Given the description of an element on the screen output the (x, y) to click on. 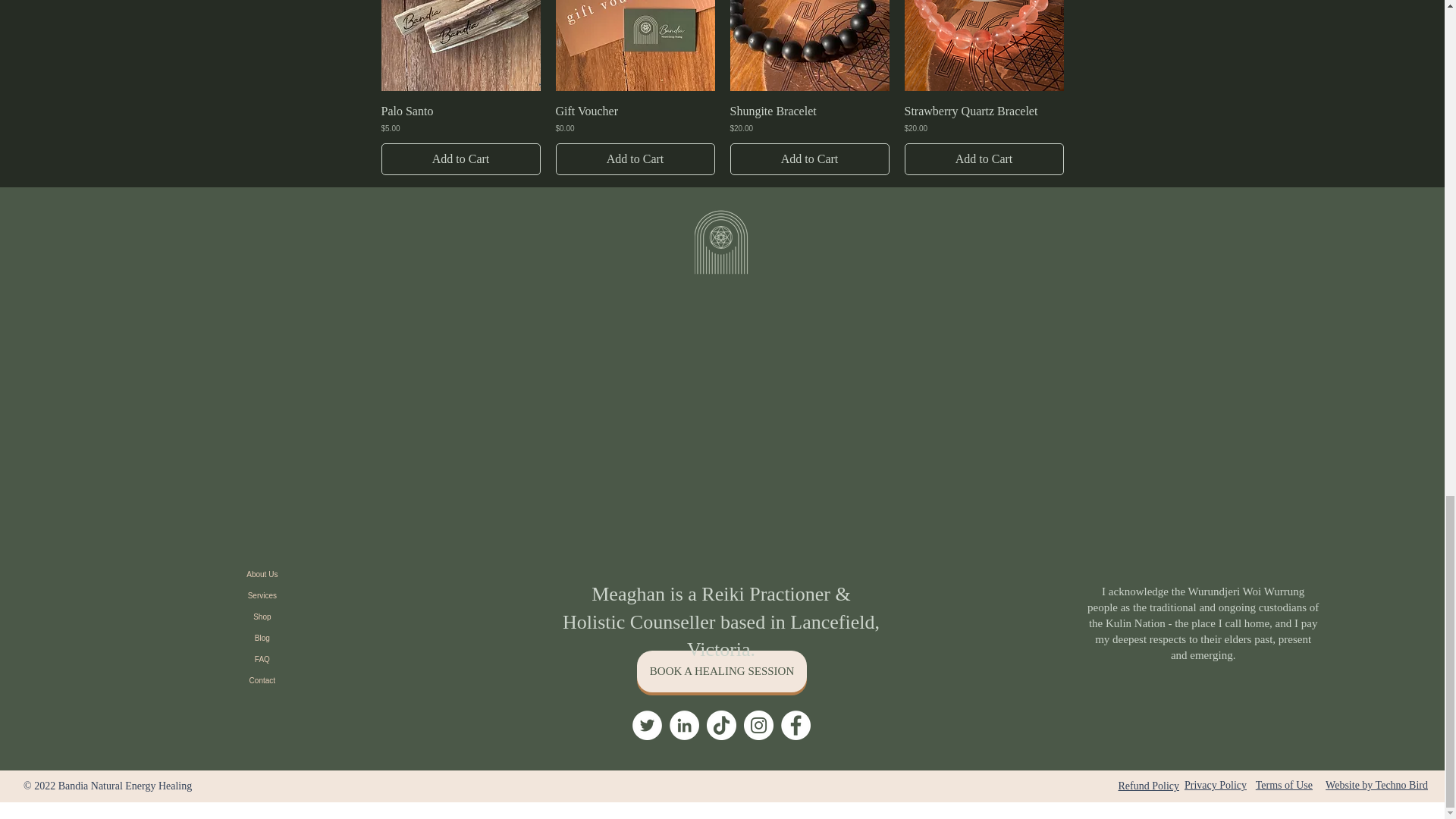
Add to Cart (460, 159)
Add to Cart (634, 159)
Add to Cart (808, 159)
